Given the description of an element on the screen output the (x, y) to click on. 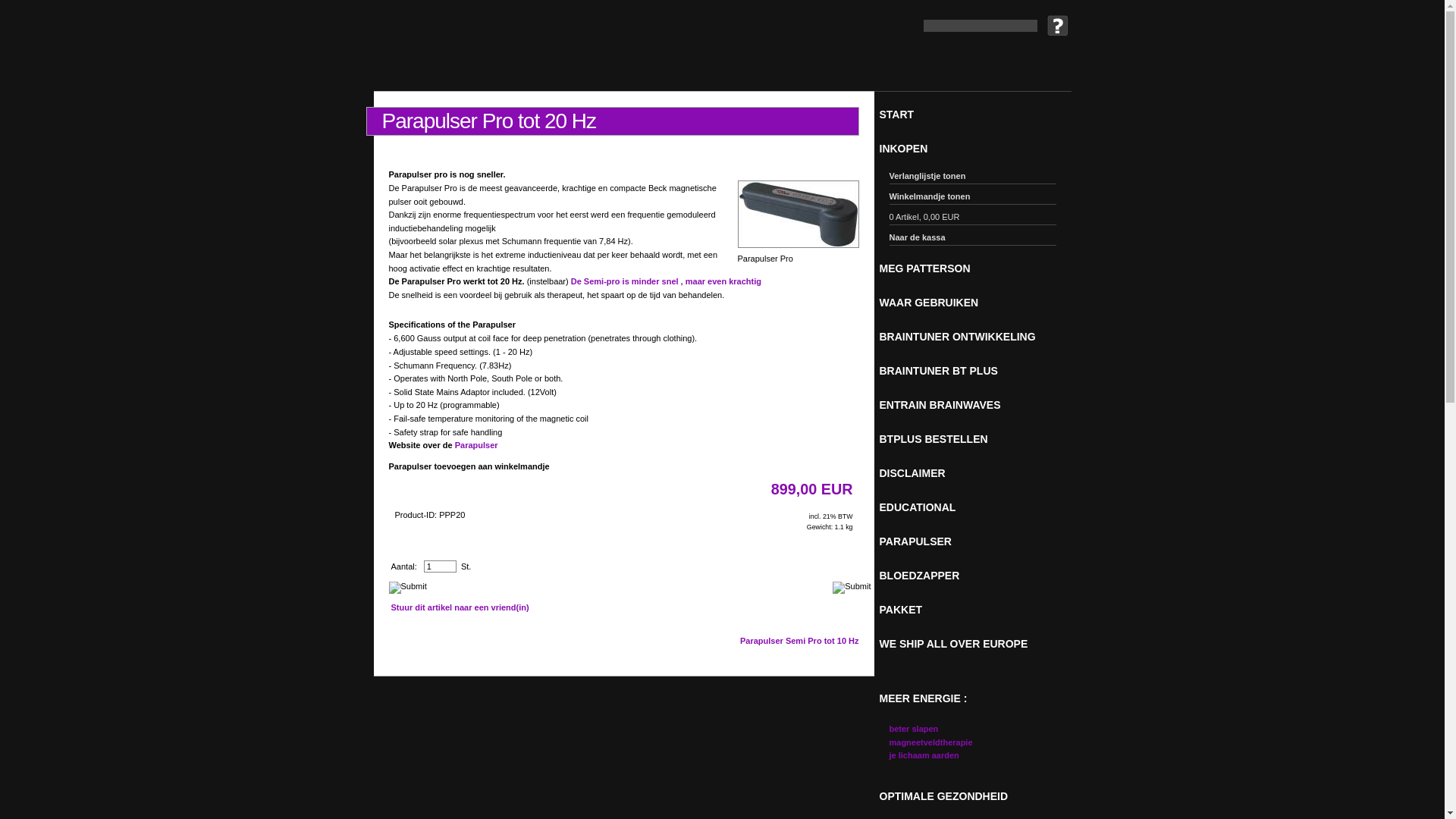
WAAR GEBRUIKEN Element type: text (975, 302)
MEG PATTERSON Element type: text (975, 268)
BRAINTUNER ONTWIKKELING Element type: text (975, 336)
Naar de kassa Element type: text (971, 238)
BLOEDZAPPER Element type: text (975, 575)
ENTRAIN BRAINWAVES Element type: text (975, 404)
EDUCATIONAL Element type: text (975, 506)
PAKKET Element type: text (975, 609)
Parapulser Semi Pro tot 10 Hz Element type: text (799, 640)
je lichaam aarden Element type: text (923, 754)
PARAPULSER Element type: text (975, 541)
BRAINTUNER BT PLUS Element type: text (975, 370)
Winkelmandje tonen Element type: text (971, 197)
beter slapen Element type: text (913, 728)
magneetveldtherapie Element type: text (930, 741)
Stuur dit artikel naar een vriend(in) Element type: text (460, 606)
DISCLAIMER Element type: text (975, 472)
BTPLUS BESTELLEN Element type: text (975, 438)
START Element type: text (975, 114)
Verlanglijstje tonen Element type: text (971, 177)
Parapulser Element type: text (476, 444)
De Semi-pro is minder snel , maar even krachtig Element type: text (666, 280)
